Given the description of an element on the screen output the (x, y) to click on. 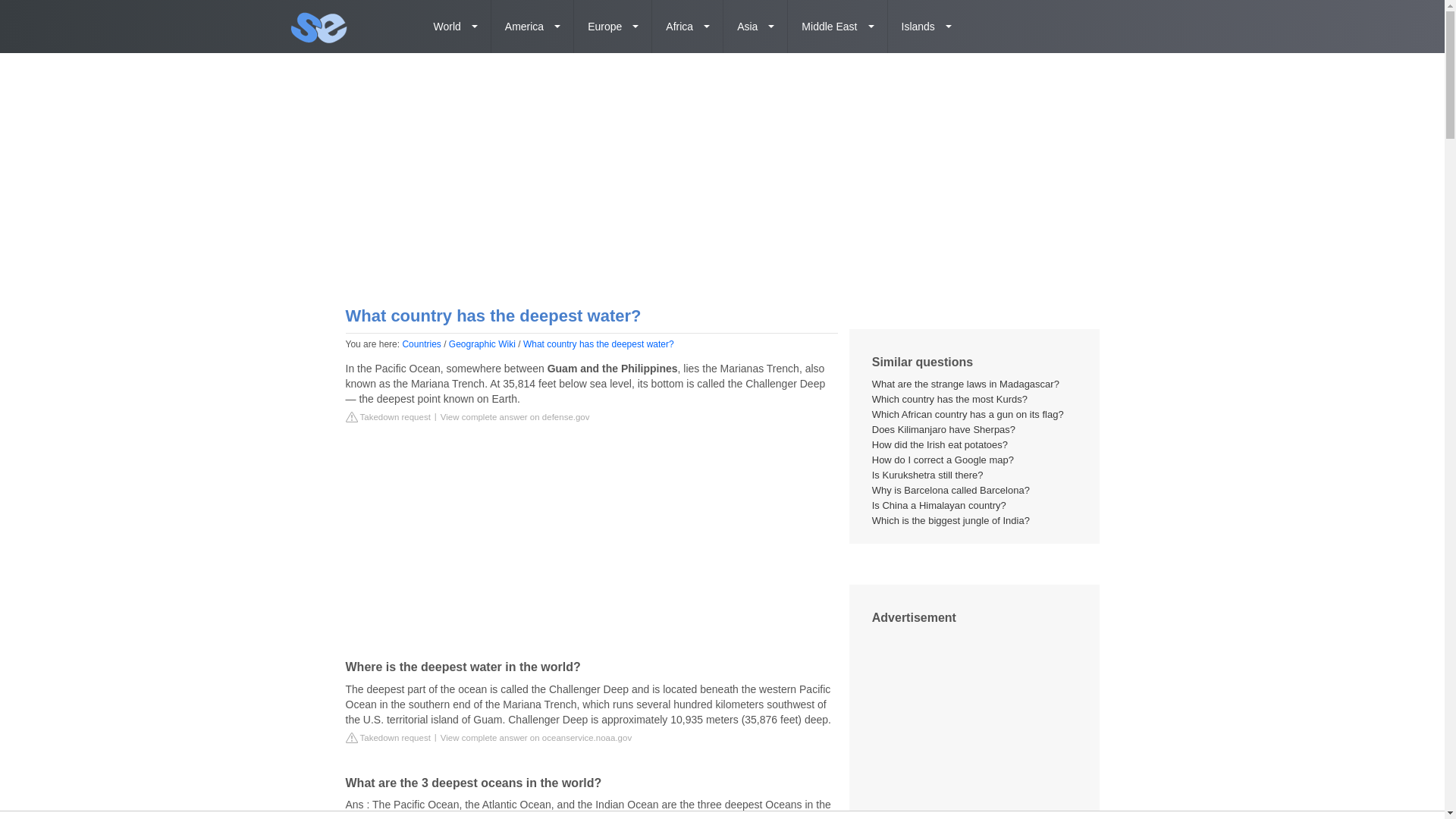
America (532, 26)
World (456, 26)
Europe (612, 26)
